Given the description of an element on the screen output the (x, y) to click on. 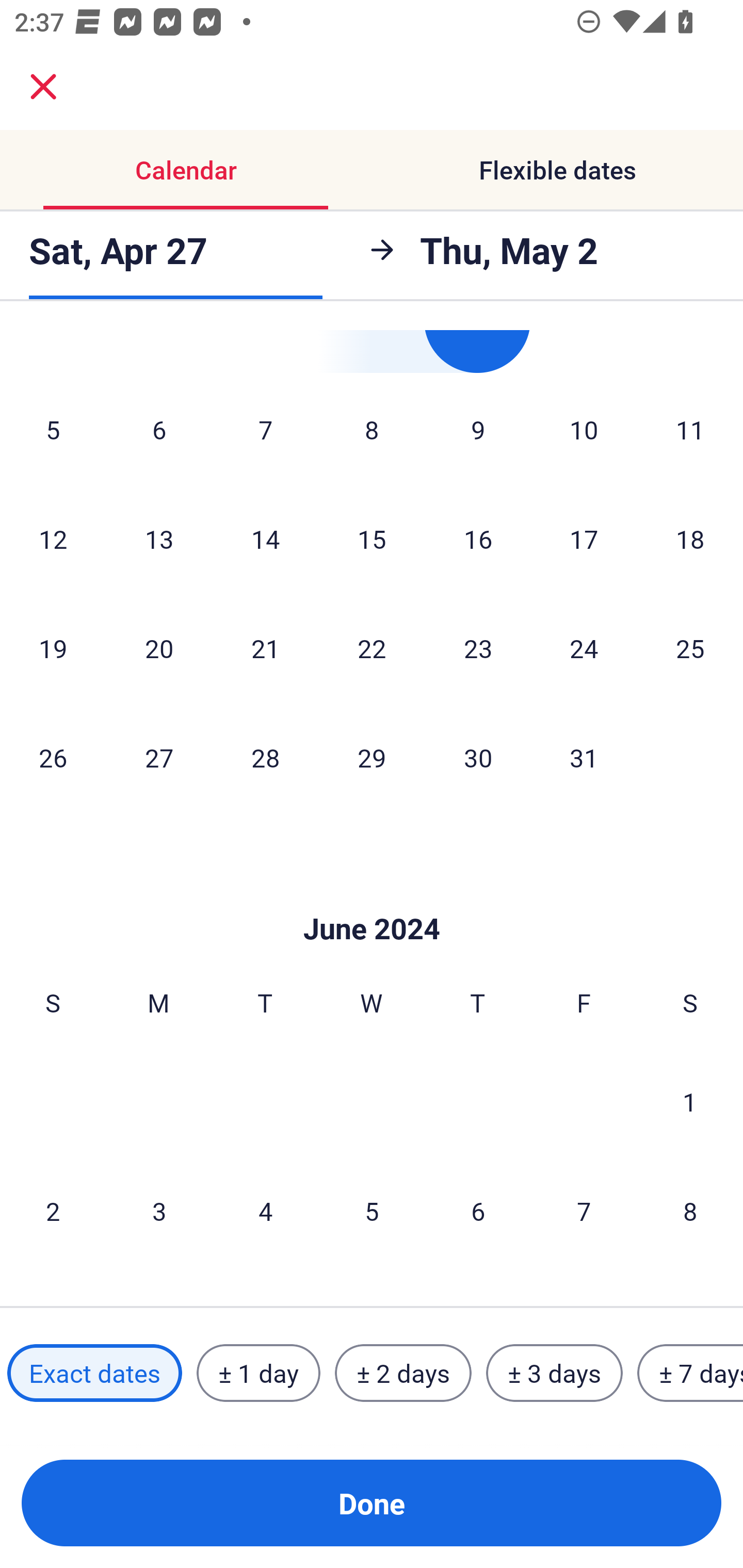
close. (43, 86)
Flexible dates (557, 170)
5 Sunday, May 5, 2024 (53, 429)
6 Monday, May 6, 2024 (159, 429)
7 Tuesday, May 7, 2024 (265, 429)
8 Wednesday, May 8, 2024 (371, 429)
9 Thursday, May 9, 2024 (477, 429)
10 Friday, May 10, 2024 (584, 429)
11 Saturday, May 11, 2024 (690, 429)
12 Sunday, May 12, 2024 (53, 538)
13 Monday, May 13, 2024 (159, 538)
14 Tuesday, May 14, 2024 (265, 538)
15 Wednesday, May 15, 2024 (371, 538)
16 Thursday, May 16, 2024 (477, 538)
17 Friday, May 17, 2024 (584, 538)
18 Saturday, May 18, 2024 (690, 538)
19 Sunday, May 19, 2024 (53, 647)
20 Monday, May 20, 2024 (159, 647)
21 Tuesday, May 21, 2024 (265, 647)
22 Wednesday, May 22, 2024 (371, 647)
23 Thursday, May 23, 2024 (477, 647)
24 Friday, May 24, 2024 (584, 647)
25 Saturday, May 25, 2024 (690, 647)
26 Sunday, May 26, 2024 (53, 757)
27 Monday, May 27, 2024 (159, 757)
28 Tuesday, May 28, 2024 (265, 757)
29 Wednesday, May 29, 2024 (371, 757)
30 Thursday, May 30, 2024 (477, 757)
31 Friday, May 31, 2024 (584, 757)
Skip to Done (371, 897)
1 Saturday, June 1, 2024 (689, 1101)
2 Sunday, June 2, 2024 (53, 1210)
3 Monday, June 3, 2024 (159, 1210)
4 Tuesday, June 4, 2024 (265, 1210)
5 Wednesday, June 5, 2024 (371, 1210)
6 Thursday, June 6, 2024 (477, 1210)
7 Friday, June 7, 2024 (584, 1210)
8 Saturday, June 8, 2024 (690, 1210)
Exact dates (94, 1372)
± 1 day (258, 1372)
± 2 days (403, 1372)
± 3 days (553, 1372)
± 7 days (690, 1372)
Done (371, 1502)
